Given the description of an element on the screen output the (x, y) to click on. 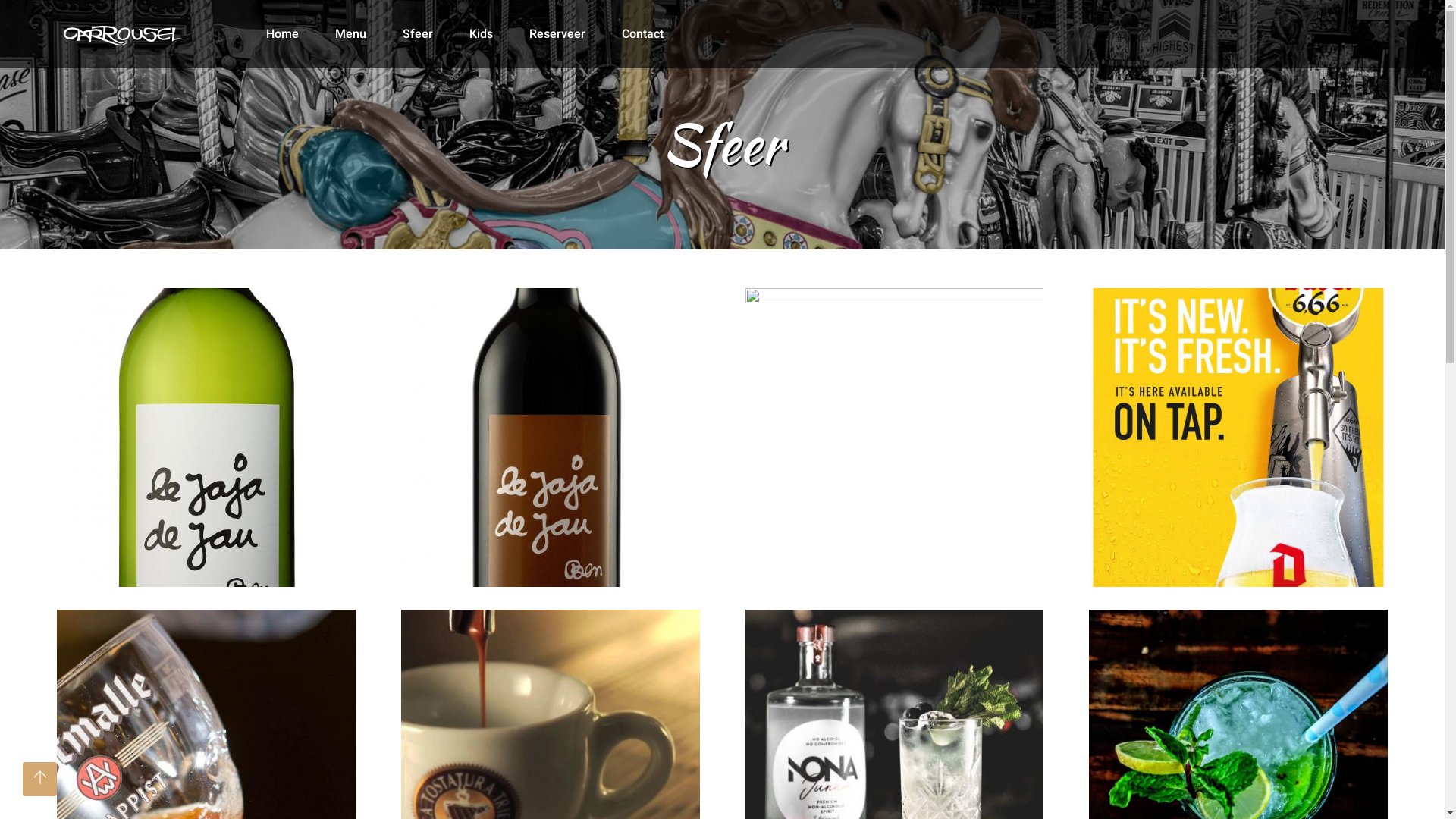
Contact Element type: text (642, 34)
Brasserie Carrousel. Restaurant en tearoom te Nieuwpoort Element type: hover (124, 27)
Home Element type: text (281, 34)
Reserveer Element type: text (557, 34)
Menu Element type: text (350, 34)
Brasserie Carrousel - Nieuwpoort Element type: text (0, 0)
Kids Element type: text (481, 34)
Sfeer Element type: text (417, 34)
